Given the description of an element on the screen output the (x, y) to click on. 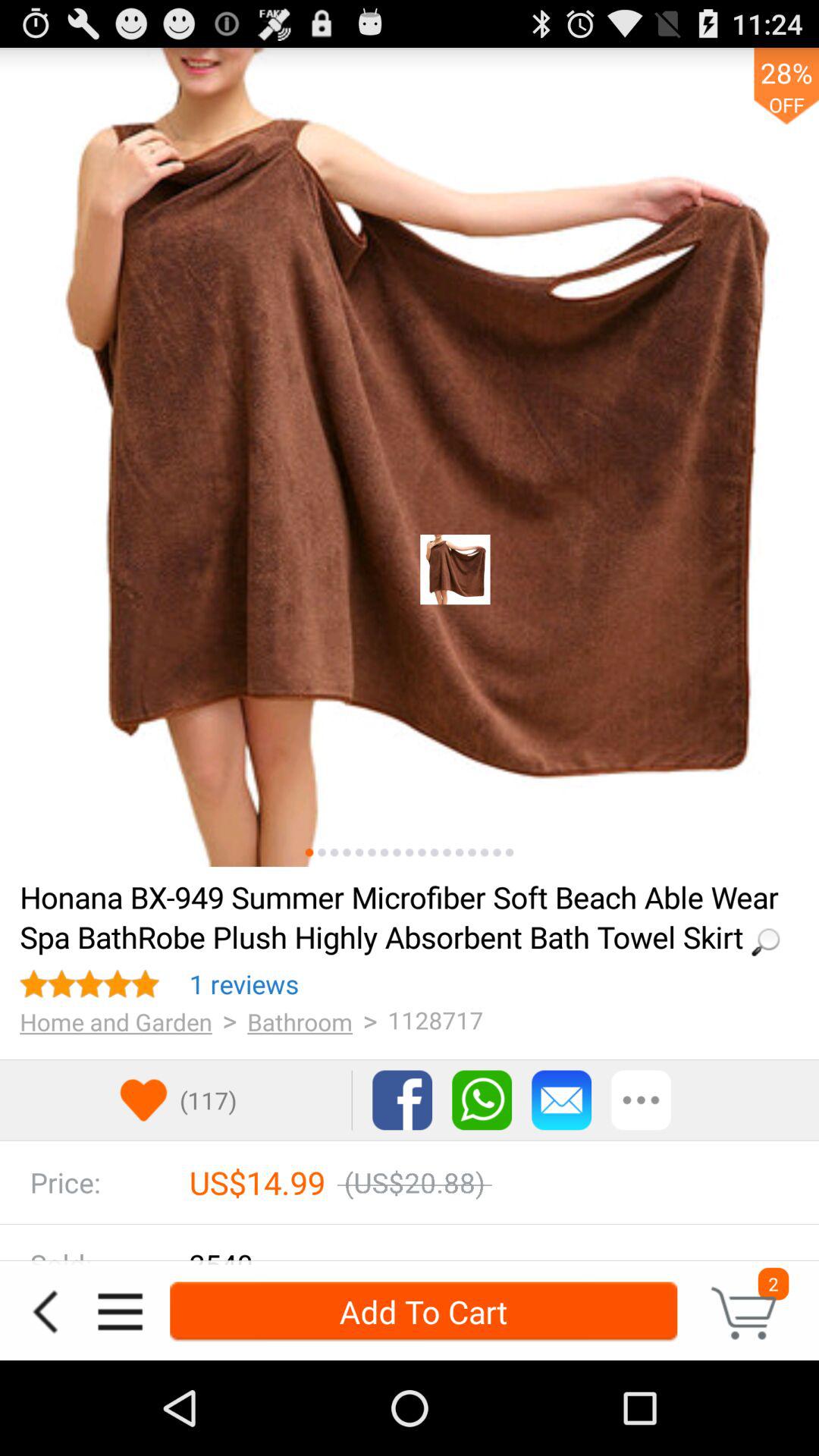
tap the item next to the > (244, 983)
